Given the description of an element on the screen output the (x, y) to click on. 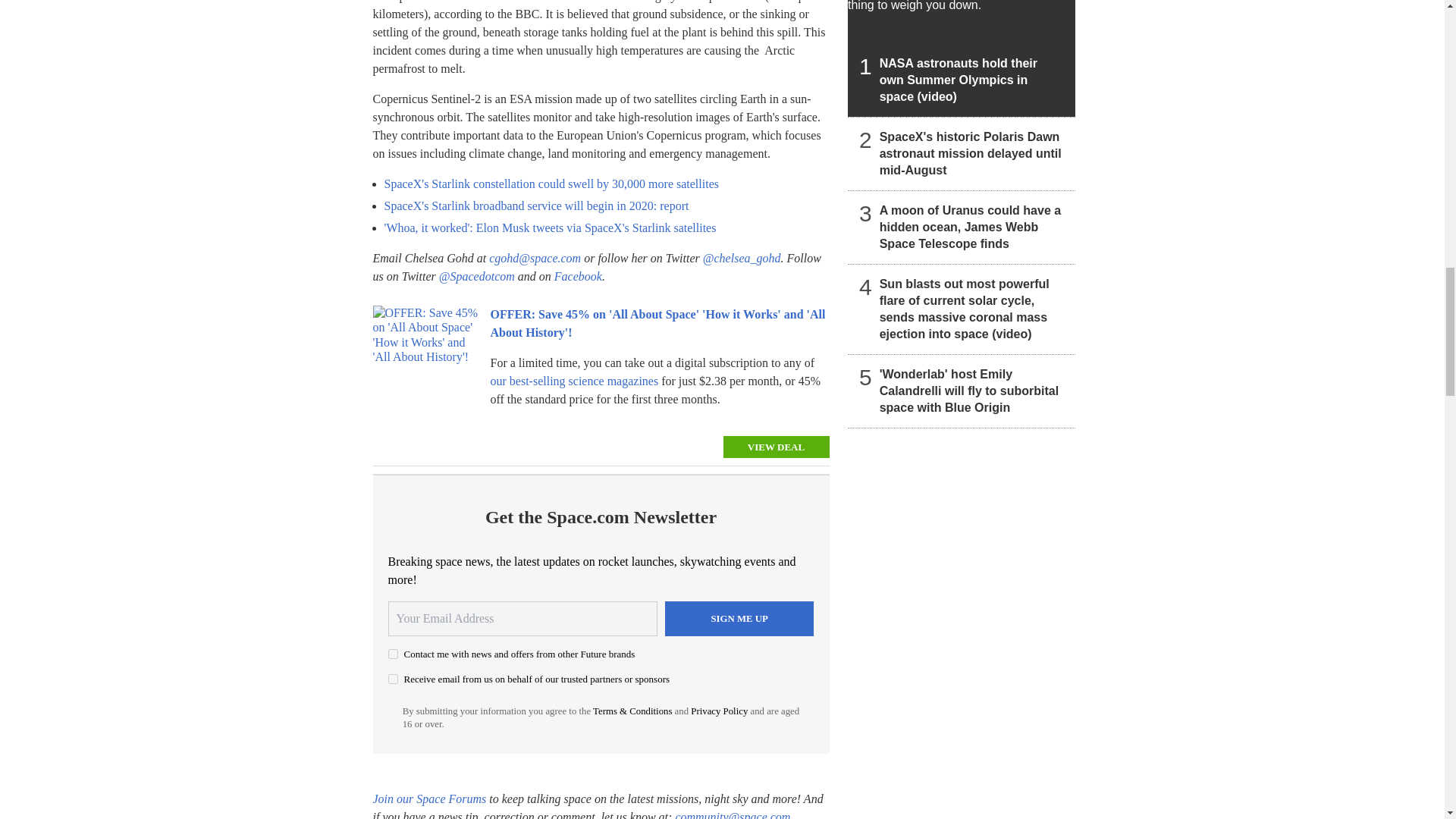
on (392, 654)
on (392, 678)
Sign me up (739, 618)
